Given the description of an element on the screen output the (x, y) to click on. 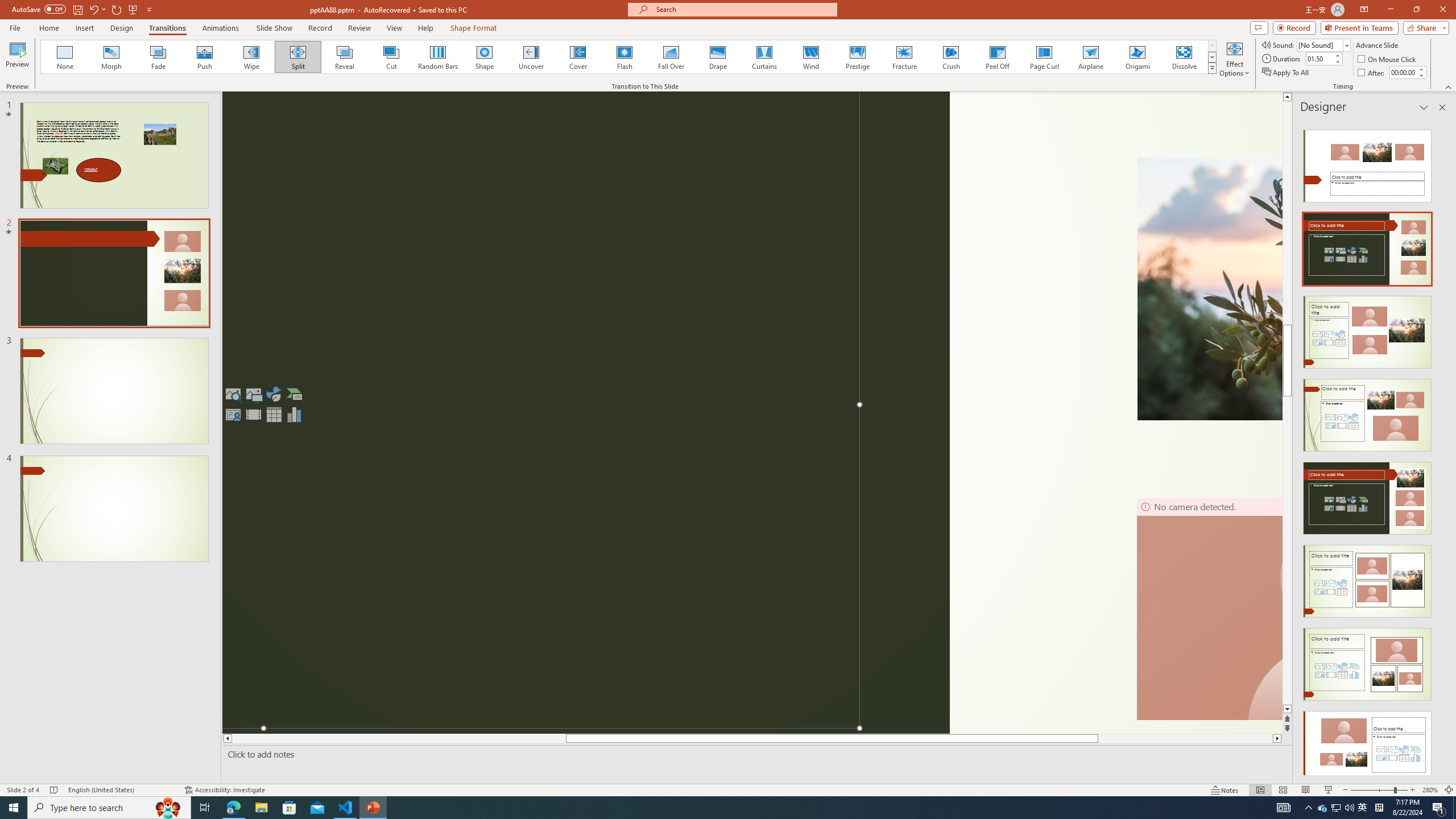
Close up of an olive branch on a sunset (1209, 288)
Pictures (253, 393)
Curtains (764, 56)
Insert Video (253, 414)
Decorative Locked (585, 412)
Less (1420, 75)
Content Placeholder (540, 409)
Insert Table (273, 414)
